Given the description of an element on the screen output the (x, y) to click on. 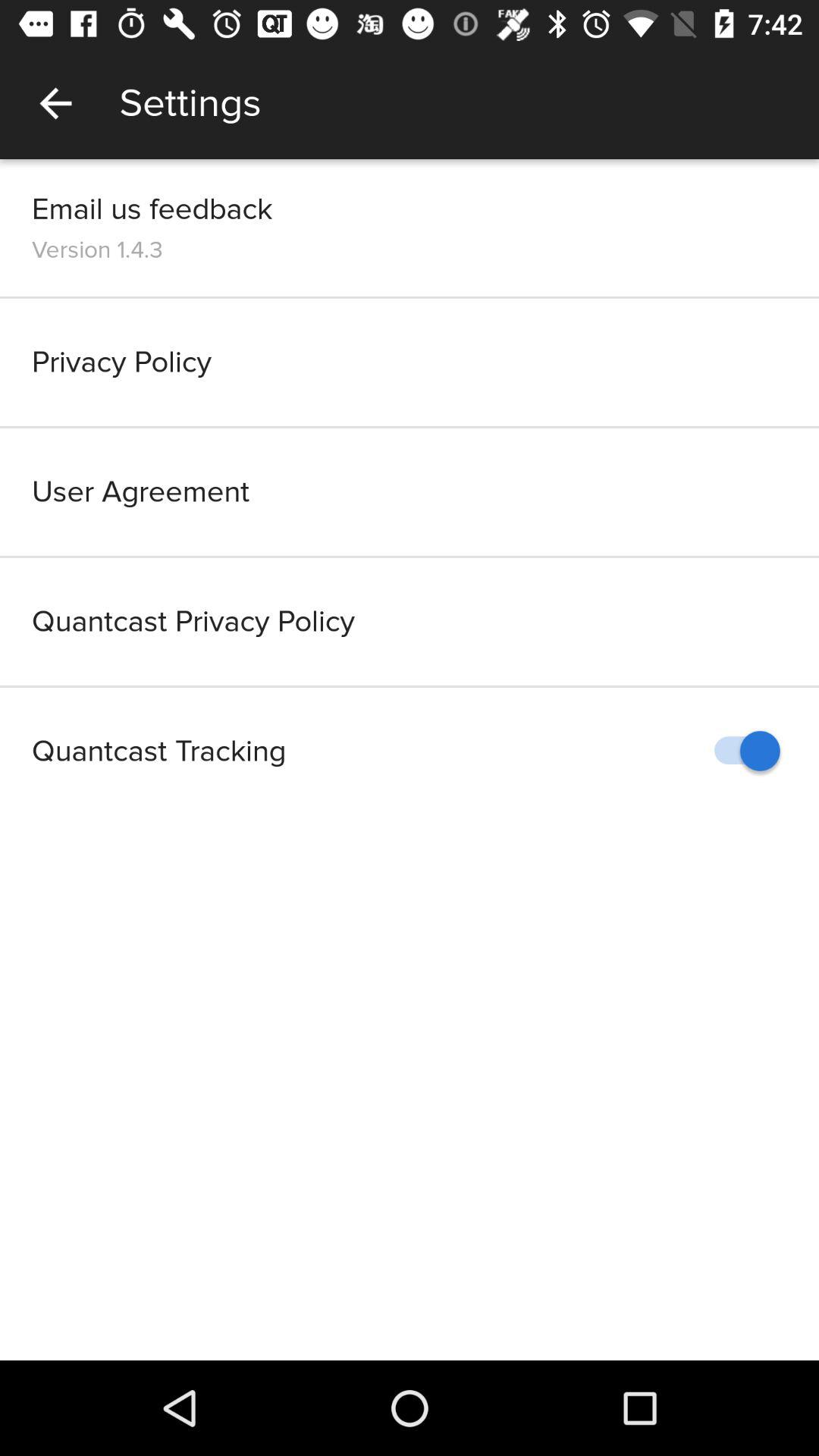
select item above the privacy policy (96, 249)
